Given the description of an element on the screen output the (x, y) to click on. 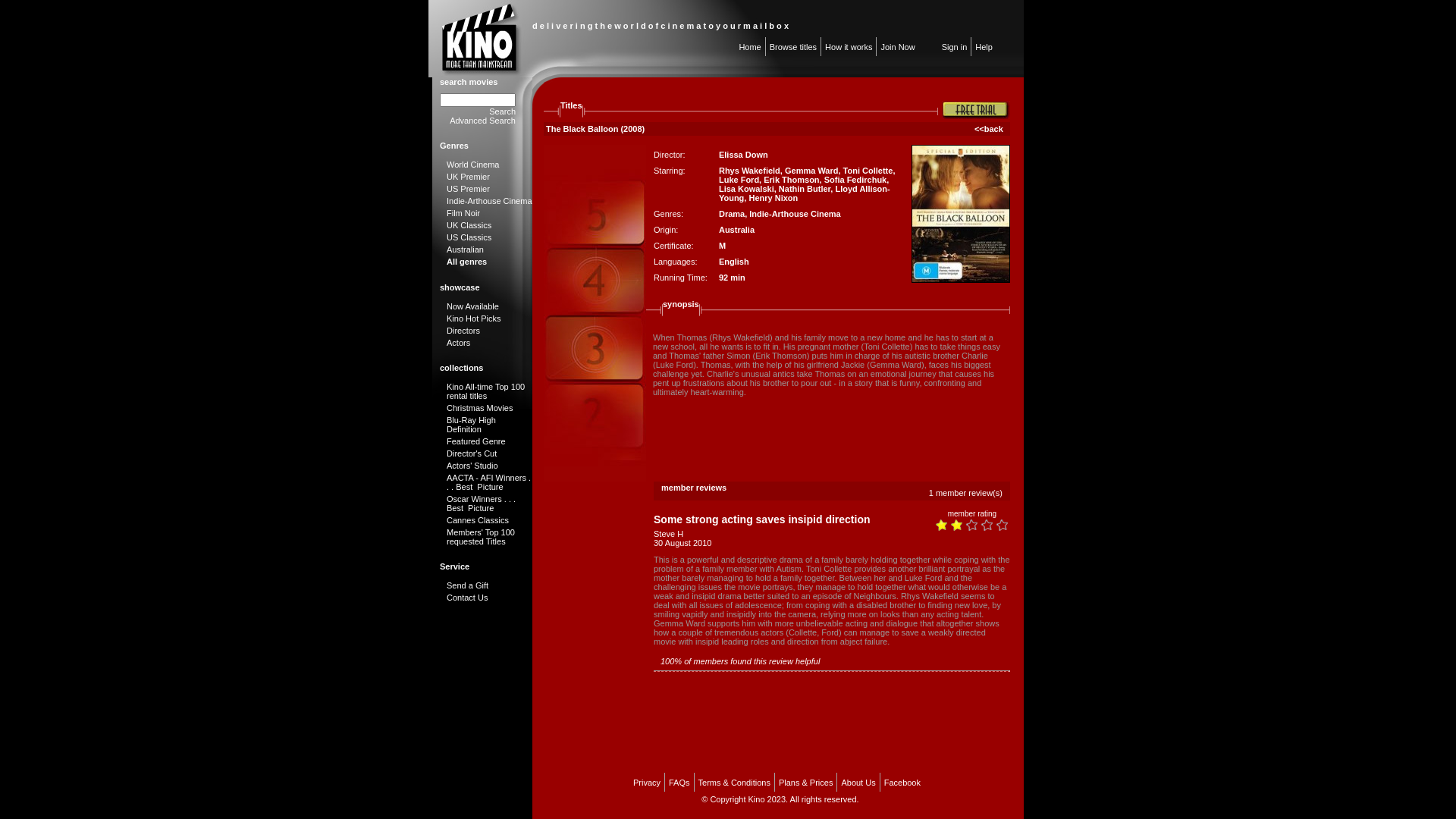
Search Element type: text (502, 111)
Lisa Kowalski Element type: text (746, 188)
Contact Us Element type: text (466, 597)
UK Classics Element type: text (468, 224)
Browse titles Element type: text (792, 46)
Privacy Element type: text (646, 782)
M Element type: text (721, 245)
UK Premier Element type: text (467, 176)
Now Available Element type: text (472, 305)
Join Now Element type: text (897, 46)
Help Element type: text (983, 46)
Home Element type: text (749, 46)
Film Noir Element type: text (463, 212)
How it works Element type: text (848, 46)
US Classics Element type: text (468, 236)
Send a Gift Element type: text (467, 584)
Henry Nixon Element type: text (772, 197)
Actors Element type: text (458, 342)
Indie-Arthouse Cinema Element type: text (489, 200)
Luke Ford Element type: text (738, 179)
Lloyd Allison-Young Element type: text (804, 193)
Oscar Winners . . . Best  Picture Element type: text (480, 503)
Director's Cut Element type: text (471, 453)
Australian Element type: text (464, 249)
Sofia Fedirchuk Element type: text (855, 179)
About Us Element type: text (857, 782)
Free Trial Element type: hover (975, 109)
Featured Genre Element type: text (475, 440)
Actors' Studio Element type: text (472, 465)
FAQs Element type: text (679, 782)
Drama Element type: text (731, 213)
Facebook Element type: text (902, 782)
<<back   Element type: text (990, 128)
Kino All-time Top 100 rental titles Element type: text (485, 391)
Plans & Prices Element type: text (805, 782)
All genres Element type: text (466, 261)
Gemma Ward Element type: text (811, 170)
Erik Thomson Element type: text (791, 179)
Members' Top 100 requested Titles Element type: text (480, 536)
Nathin Butler Element type: text (804, 188)
US Premier Element type: text (467, 188)
AACTA - AFI Winners . . . Best  Picture Element type: text (488, 482)
Cannes Classics Element type: text (477, 519)
Elissa Down Element type: text (743, 154)
Rhys Wakefield Element type: text (749, 170)
Terms & Conditions Element type: text (734, 782)
Kino Hot Picks Element type: text (473, 318)
Toni Collette Element type: text (868, 170)
Advanced Search Element type: text (482, 120)
World Cinema Element type: text (472, 164)
Indie-Arthouse Cinema Element type: text (794, 213)
Directors Element type: text (463, 330)
Blu-Ray High Definition Element type: text (470, 424)
Sign in Element type: text (954, 46)
Christmas Movies Element type: text (479, 407)
